Given the description of an element on the screen output the (x, y) to click on. 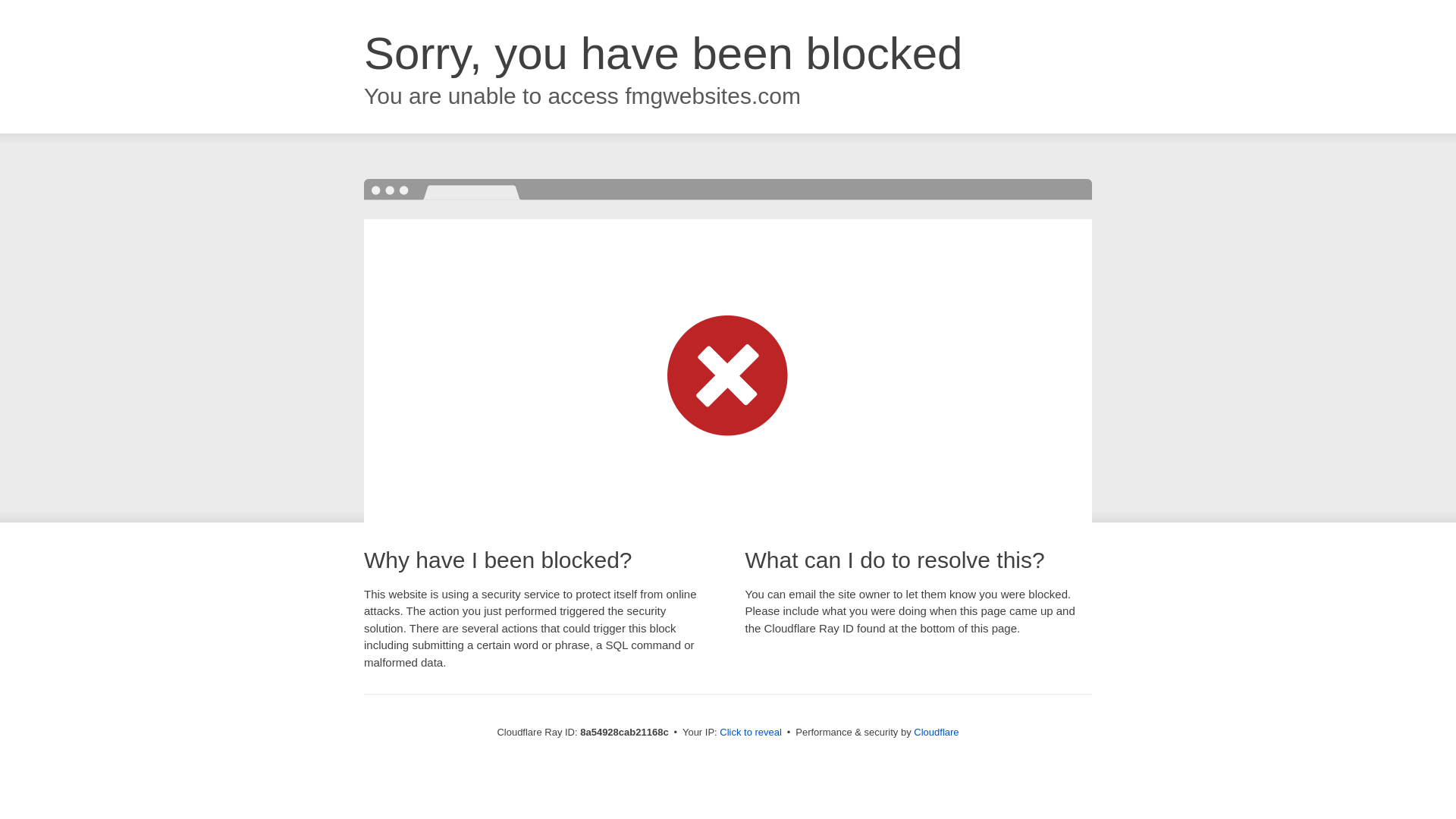
Click to reveal (750, 732)
Cloudflare (936, 731)
